Given the description of an element on the screen output the (x, y) to click on. 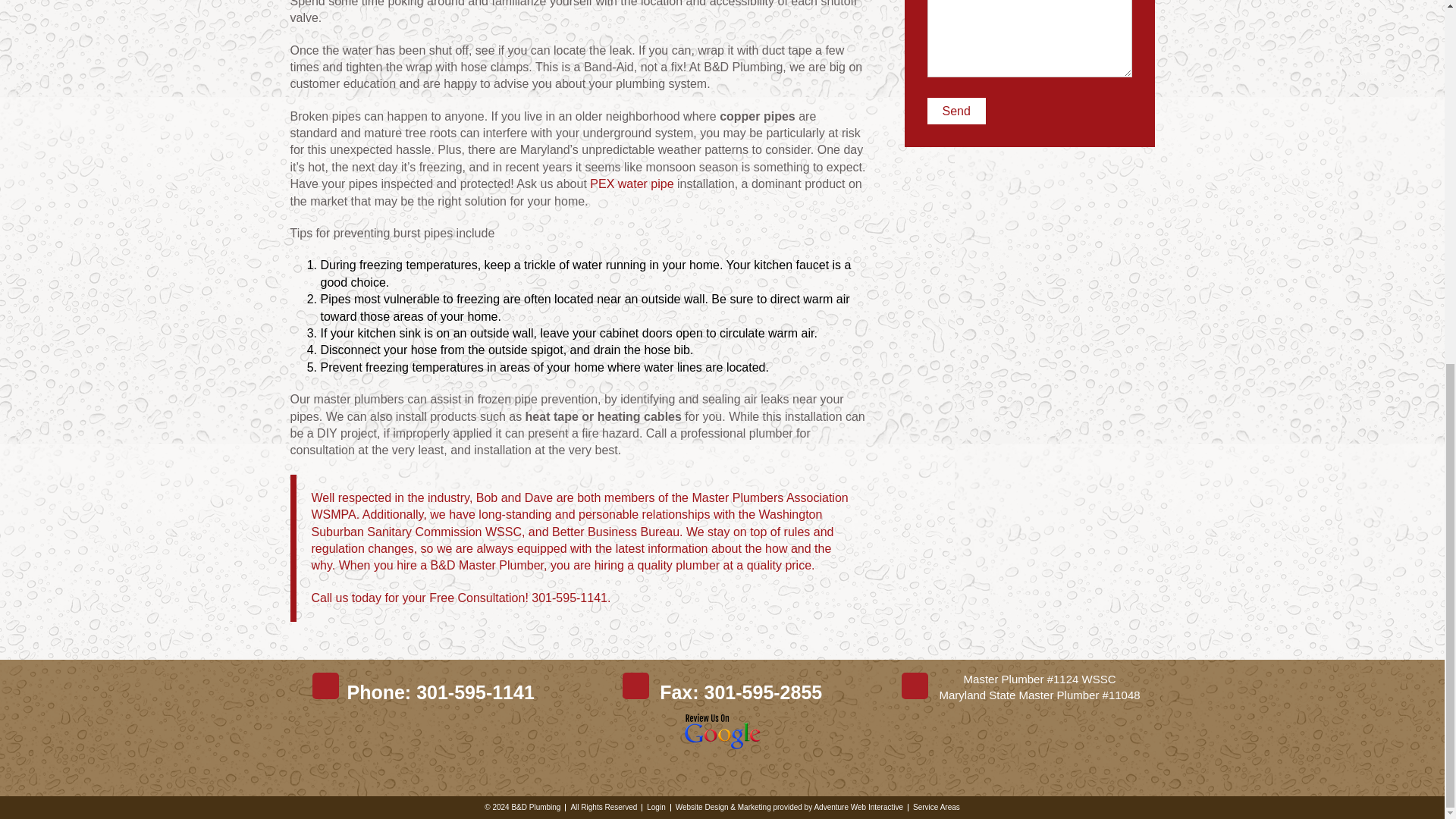
Send (955, 110)
